Given the description of an element on the screen output the (x, y) to click on. 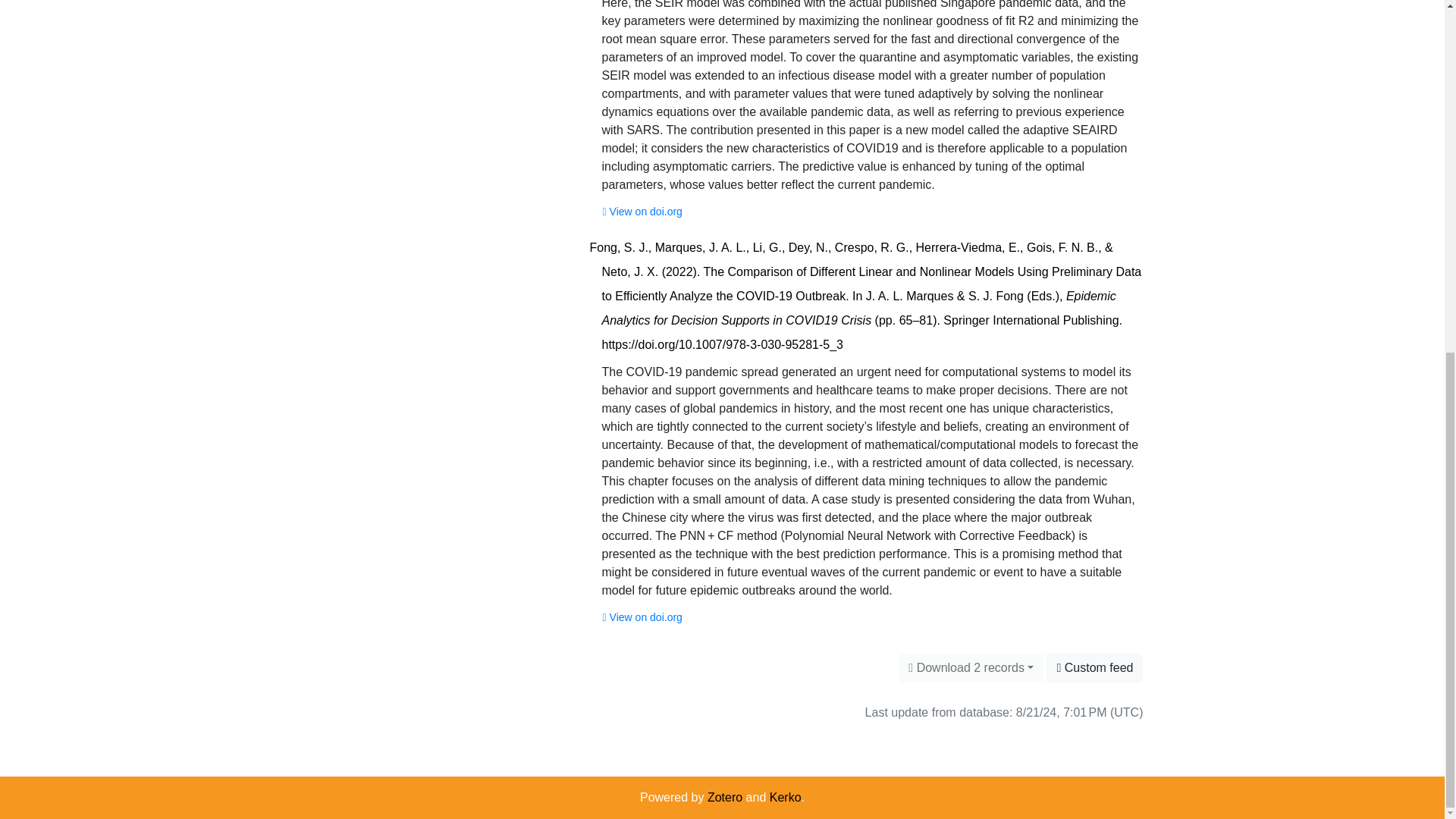
View on doi.org (641, 617)
View on doi.org (641, 211)
View details (865, 296)
Download 2 records (970, 667)
Custom feed (1094, 667)
Custom feed based on your search (1094, 667)
